Given the description of an element on the screen output the (x, y) to click on. 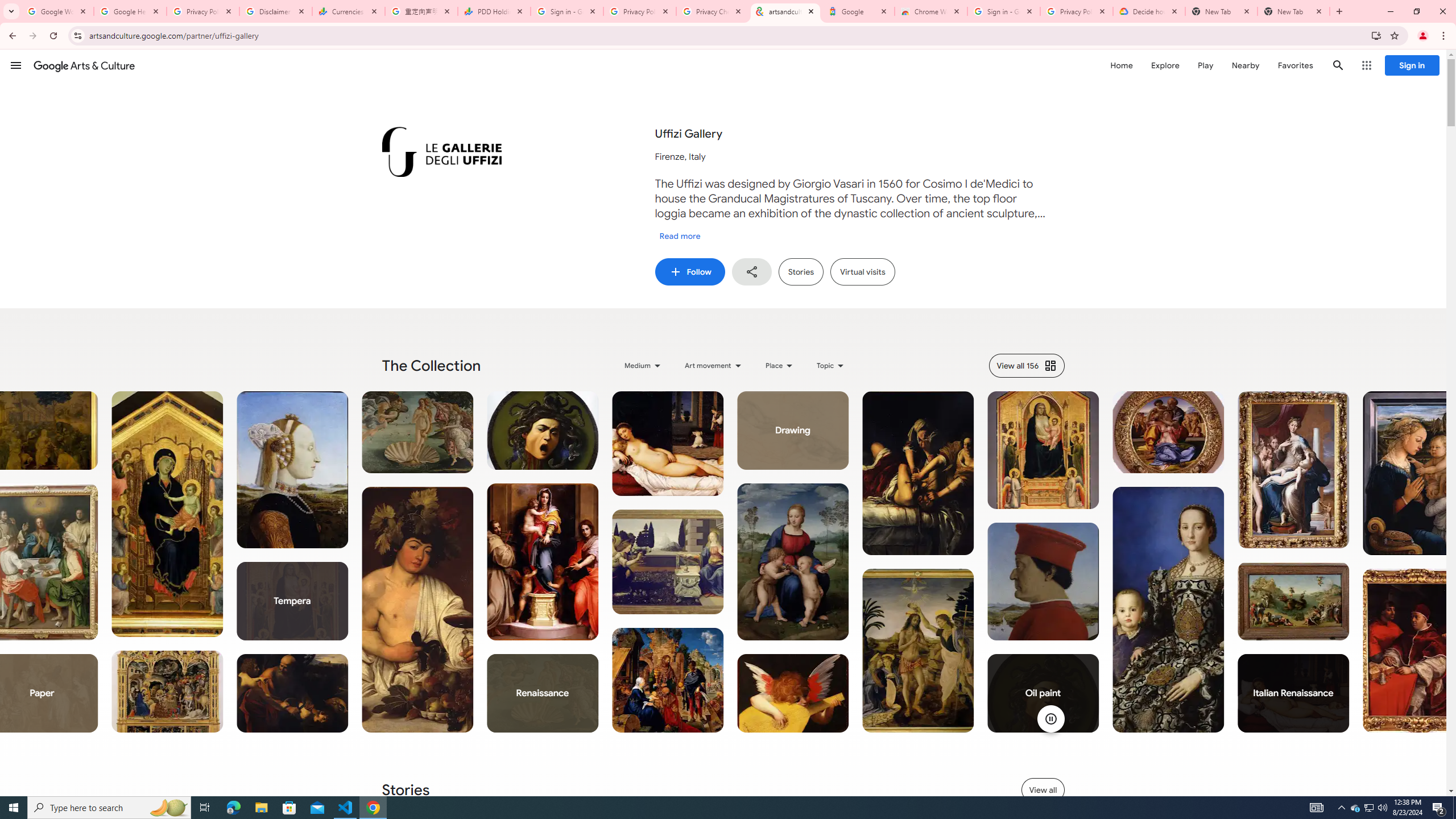
Menu (15, 65)
Place (779, 365)
Medium (643, 365)
View all 156 (1026, 365)
Home (1120, 65)
View all (1043, 789)
PDD Holdings Inc - ADR (PDD) Price & News - Google Finance (493, 11)
Install Google Arts & Culture (1376, 35)
Uffizi Gallery (441, 151)
